Given the description of an element on the screen output the (x, y) to click on. 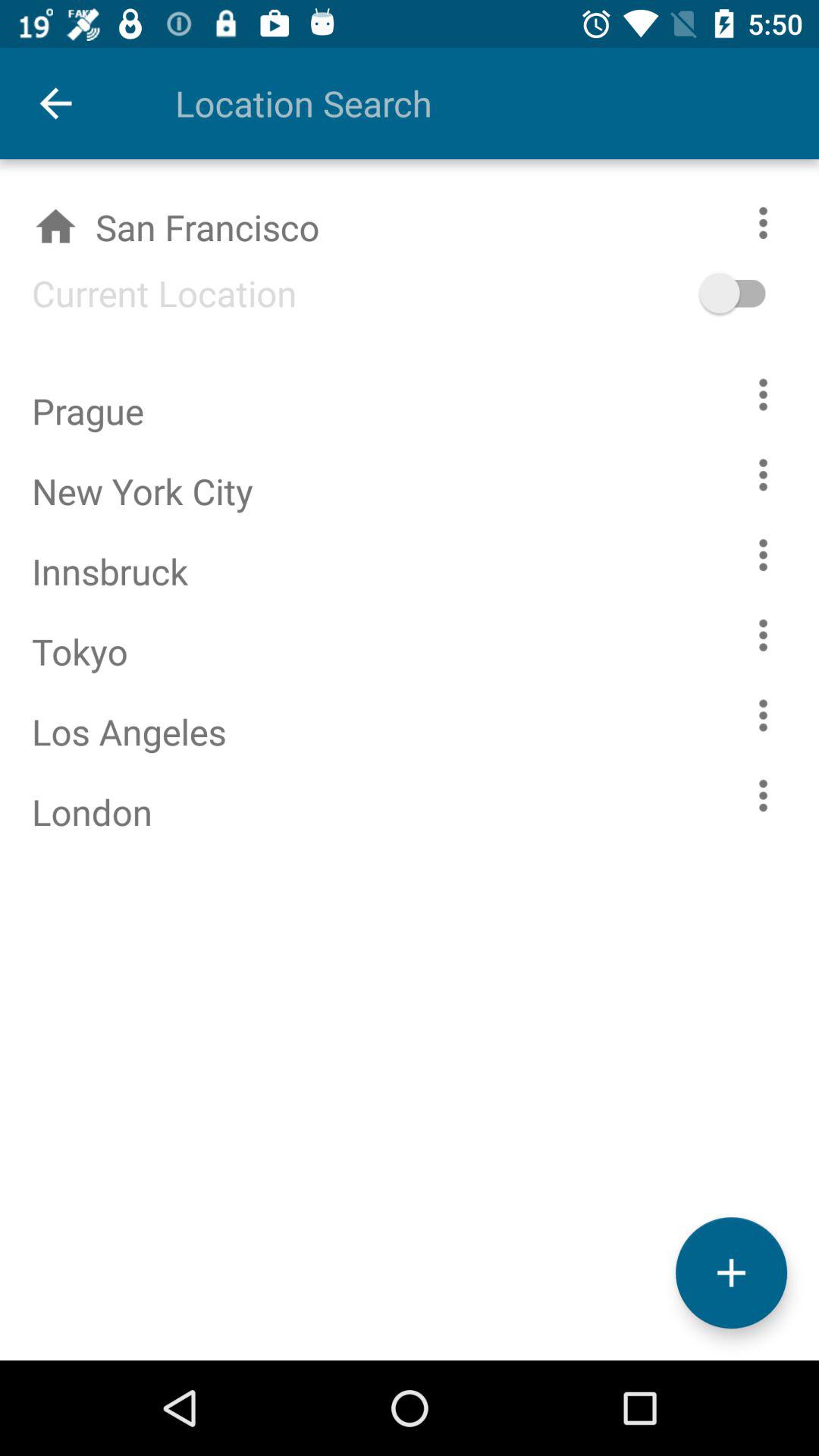
toggle current location option (755, 293)
